Given the description of an element on the screen output the (x, y) to click on. 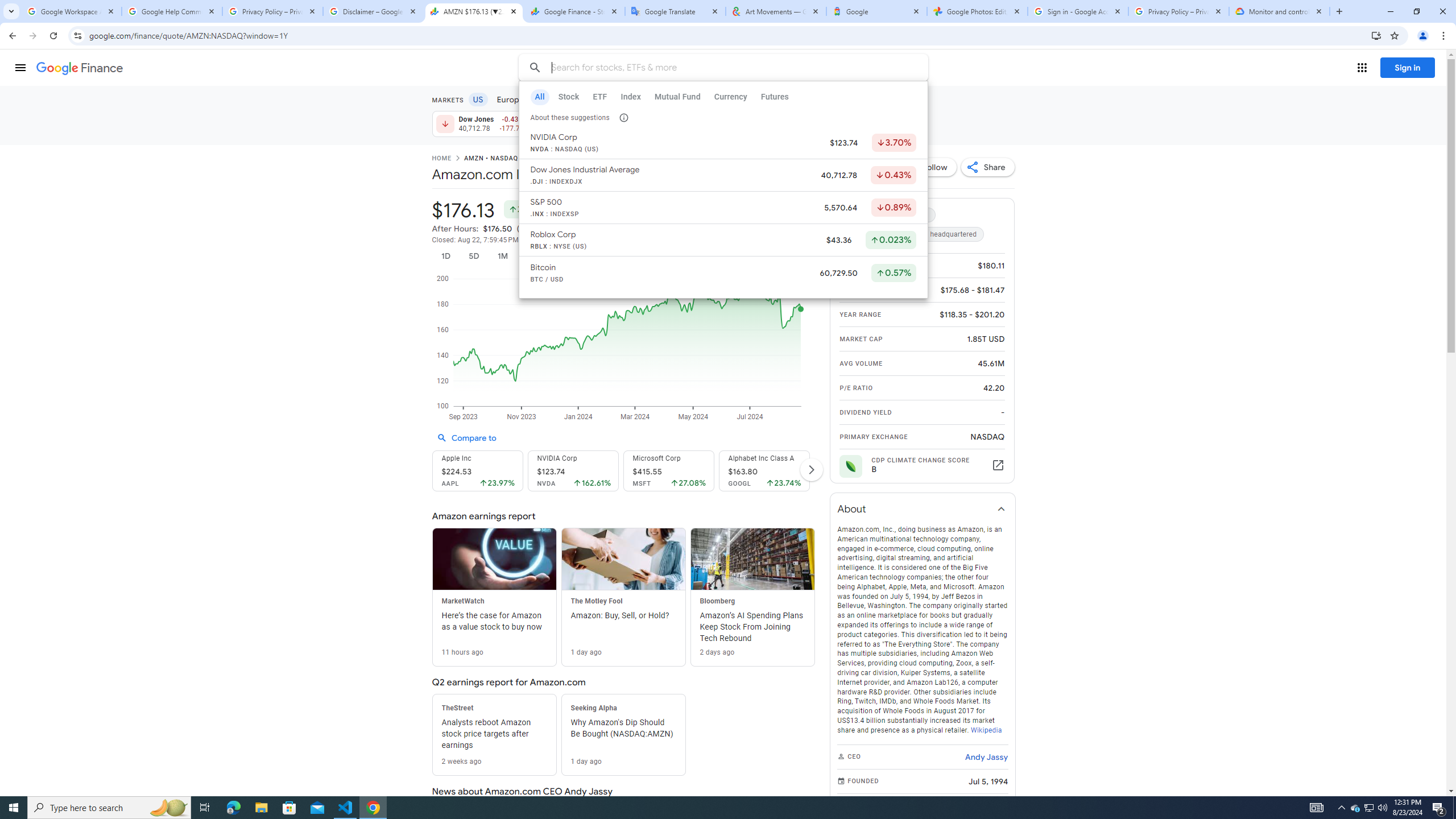
Search for stocks, ETFs & more (724, 67)
About these suggestions (623, 117)
Google (876, 11)
Russell 2,150.03 Down by 0.95% -20.53 (777, 123)
5D (473, 255)
6M (531, 255)
VIX 17.55 Up by 7.87% +1.28 (875, 123)
Dow Jones 40,712.78 Down by 0.43% -177.71 (478, 123)
